Given the description of an element on the screen output the (x, y) to click on. 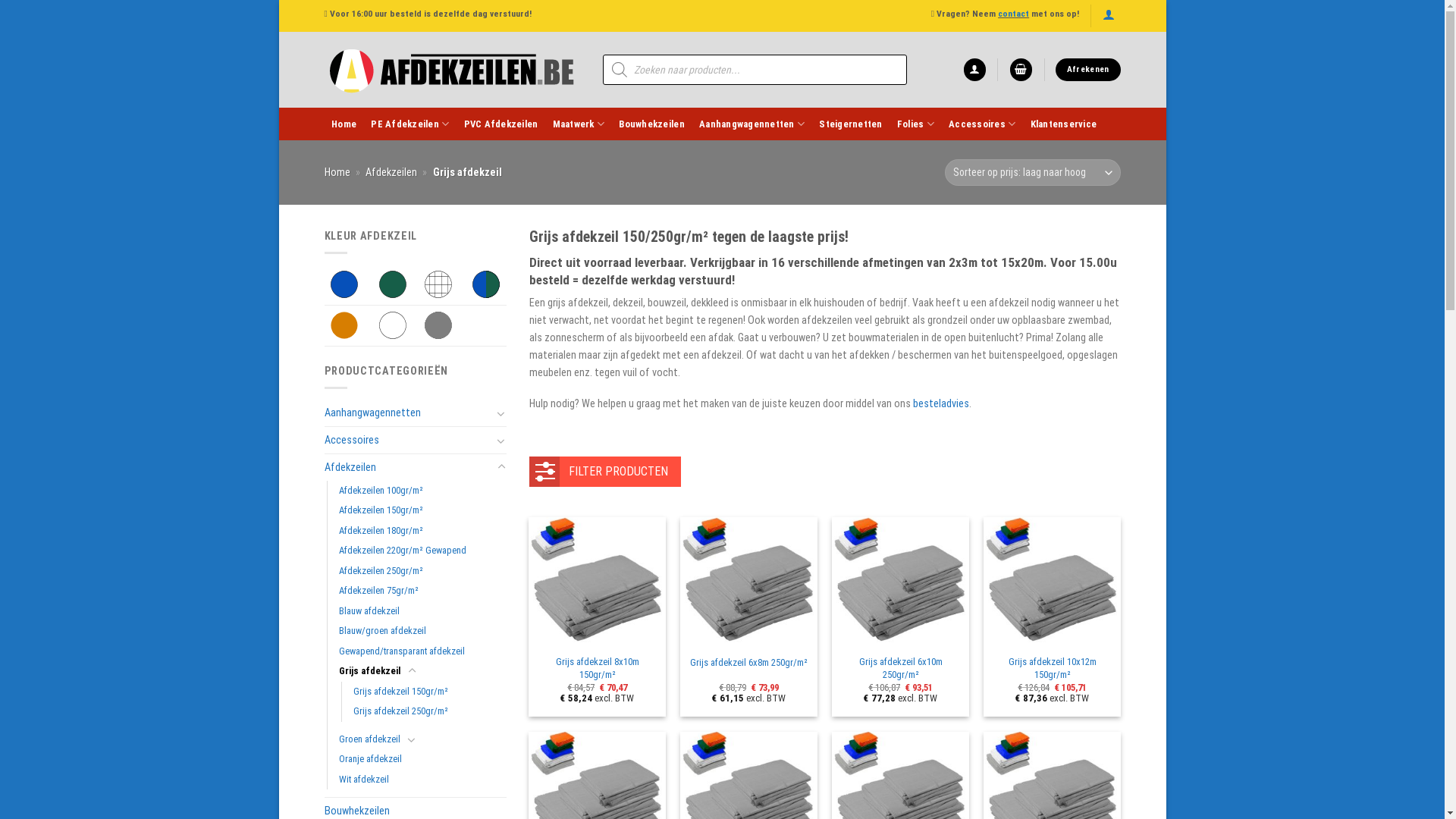
Oranje afdekzeilen Element type: hover (344, 324)
Groen afdekzeil Element type: text (368, 739)
Oranje afdekzeil Element type: text (369, 759)
PVC Afdekzeilen Element type: text (500, 123)
Wit afdekzeil Element type: text (363, 779)
contact Element type: text (1013, 13)
Maatwerk Element type: text (578, 123)
Grijs afdekzeil Element type: text (368, 671)
besteladvies Element type: text (941, 403)
Blauwe afdekzeilen Element type: hover (344, 283)
Blauw afdekzeil Element type: text (368, 611)
Gewapende afdekzeilen Element type: hover (438, 283)
PE Afdekzeilen Element type: text (410, 123)
Aanhangwagennetten Element type: text (408, 412)
Afdekzeilen Element type: text (391, 172)
Bouwhekzeilen Element type: text (651, 123)
Winkelwagen Element type: hover (1020, 69)
Accessoires Element type: text (981, 123)
Accessoires Element type: text (408, 439)
Afdekzeilen Element type: text (408, 467)
Klantenservice Element type: text (1063, 123)
Blauw/groen afdekzeil Element type: text (381, 631)
Steigernetten Element type: text (851, 123)
Witte afdekzeilen Element type: hover (392, 324)
Groene afdekzeilen Element type: hover (392, 283)
Afrekenen Element type: text (1087, 69)
Gewapend/transparant afdekzeil Element type: text (401, 651)
Home Element type: text (337, 172)
Aanhangwagennetten Element type: text (751, 123)
FILTER PRODUCTEN Element type: text (604, 471)
Grijze afdekzeilen Element type: hover (438, 324)
Blauw/groene afdekzeilen Element type: hover (485, 283)
Folies Element type: text (915, 123)
Home Element type: text (344, 123)
